Given the description of an element on the screen output the (x, y) to click on. 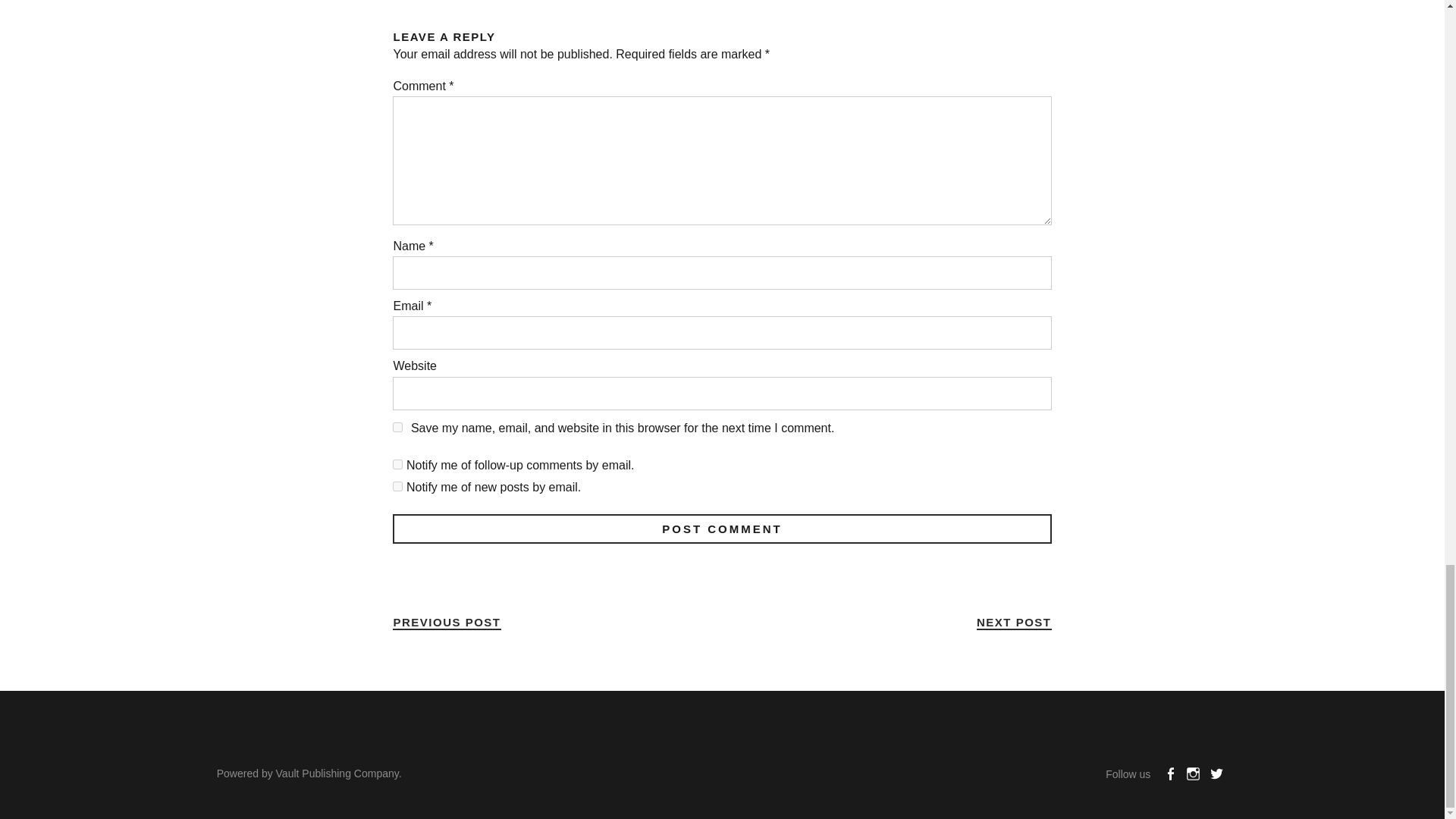
Post Comment (722, 528)
yes (398, 427)
subscribe (398, 464)
subscribe (398, 486)
